Given the description of an element on the screen output the (x, y) to click on. 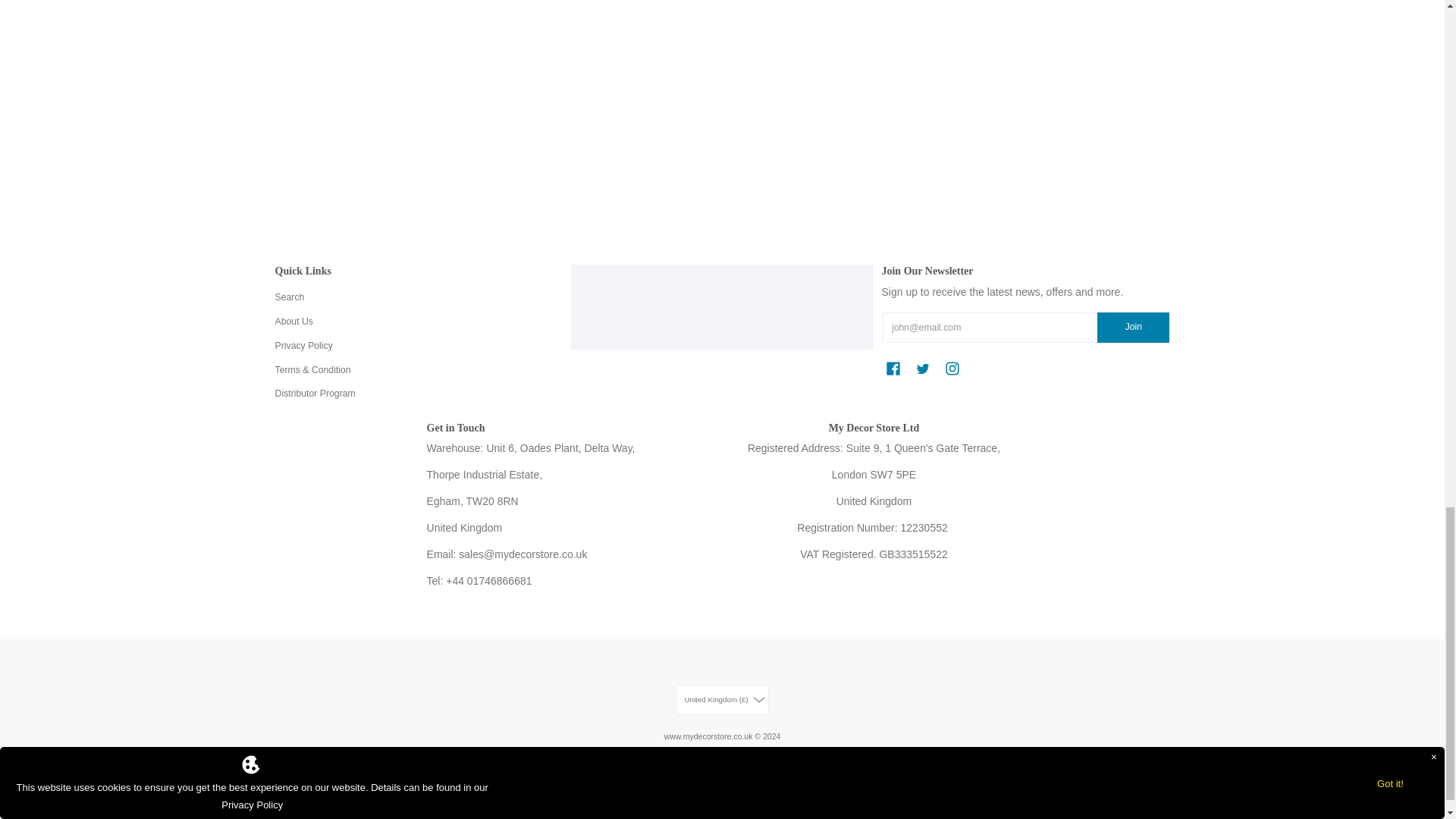
American Express (546, 781)
